Given the description of an element on the screen output the (x, y) to click on. 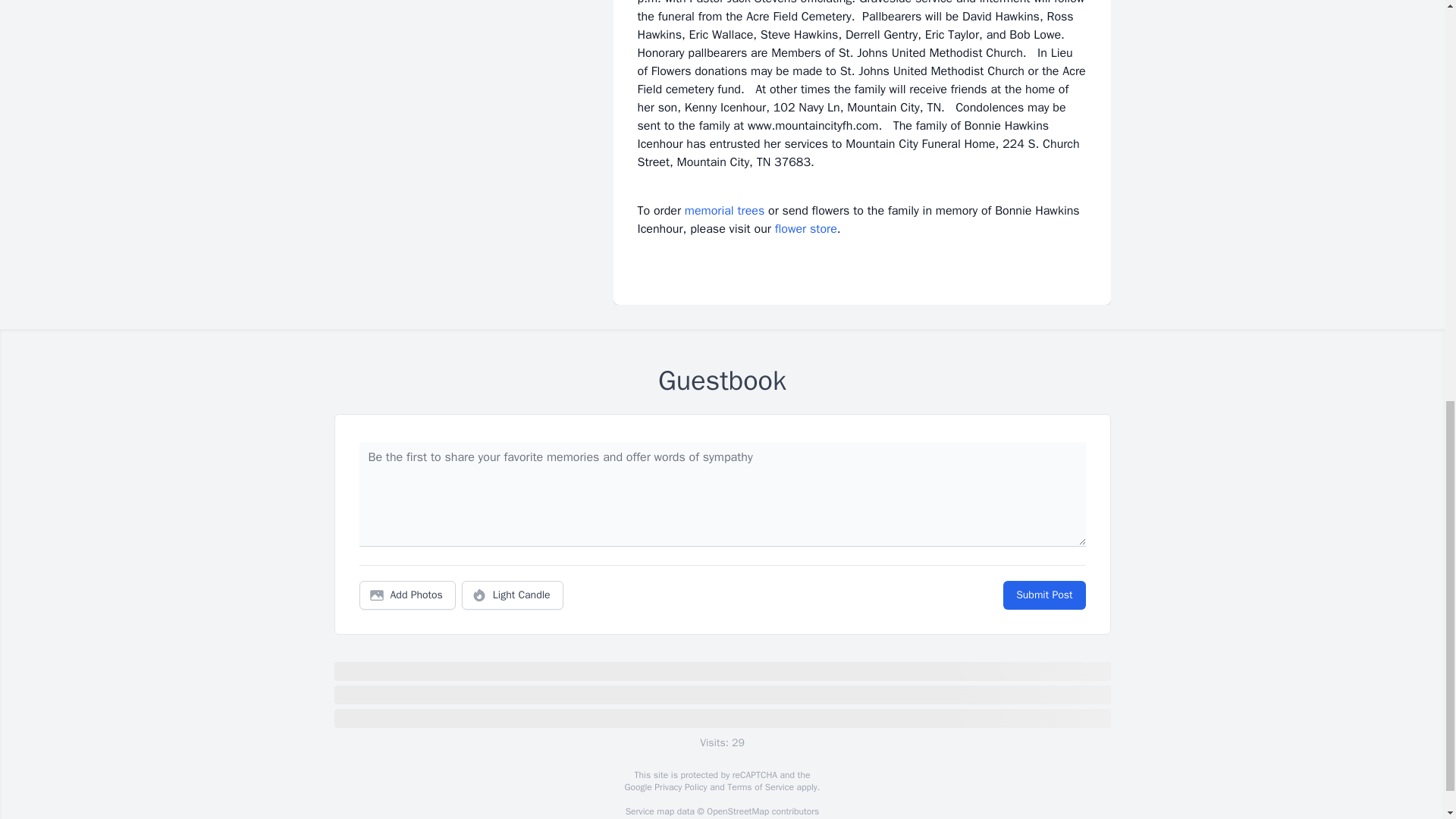
flower store (805, 228)
Privacy Policy (679, 787)
Terms of Service (759, 787)
memorial trees (724, 210)
Add Photos (407, 594)
OpenStreetMap (737, 811)
Submit Post (1043, 594)
Light Candle (512, 594)
